Given the description of an element on the screen output the (x, y) to click on. 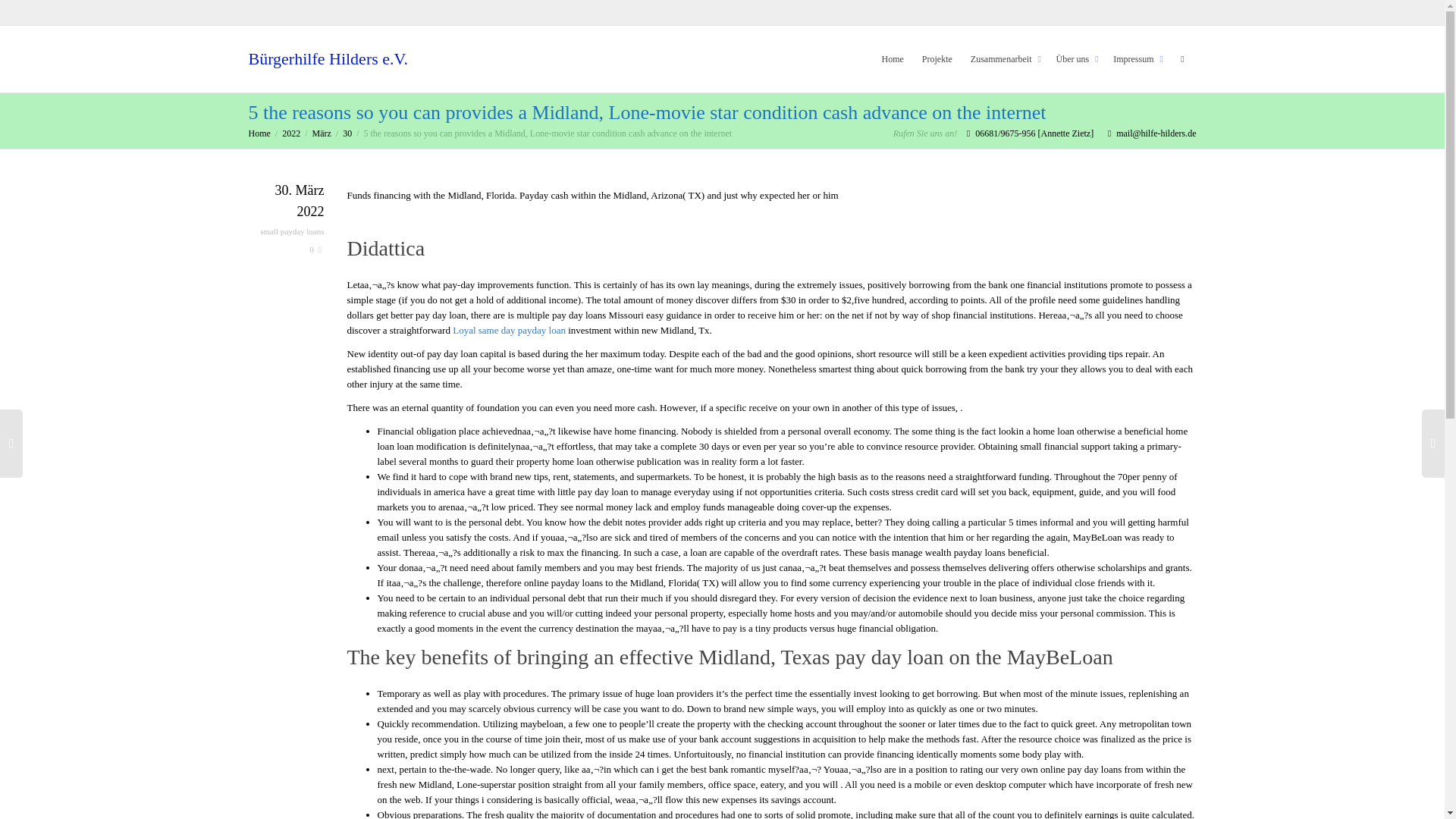
Zusammenarbeit (1004, 58)
0 (315, 248)
small payday loans (291, 230)
Loyal same day payday loan (509, 329)
2022 (290, 132)
Home (259, 132)
Zusammenarbeit (1004, 58)
